Given the description of an element on the screen output the (x, y) to click on. 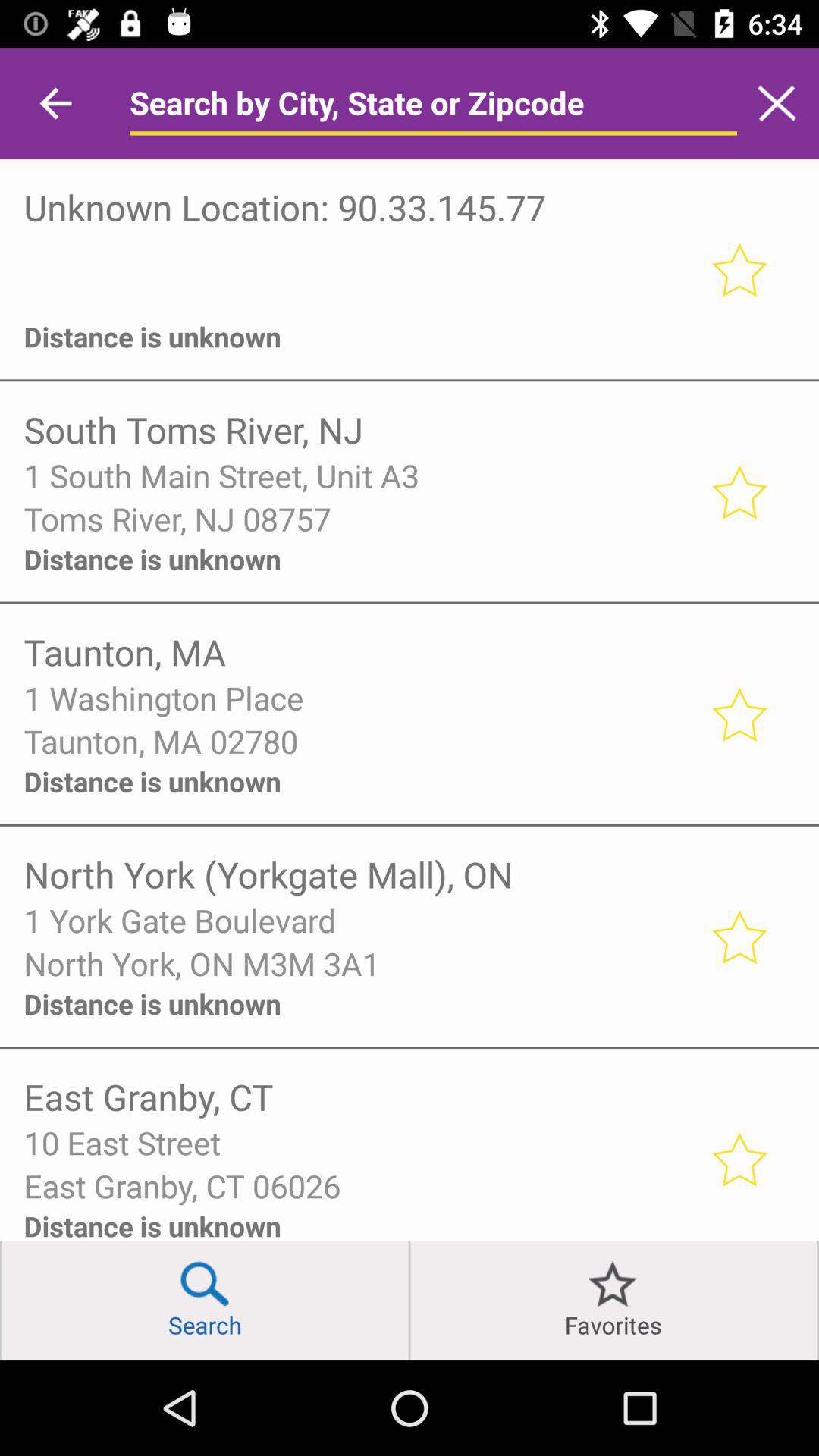
select icon next to the search icon (409, 1300)
